Given the description of an element on the screen output the (x, y) to click on. 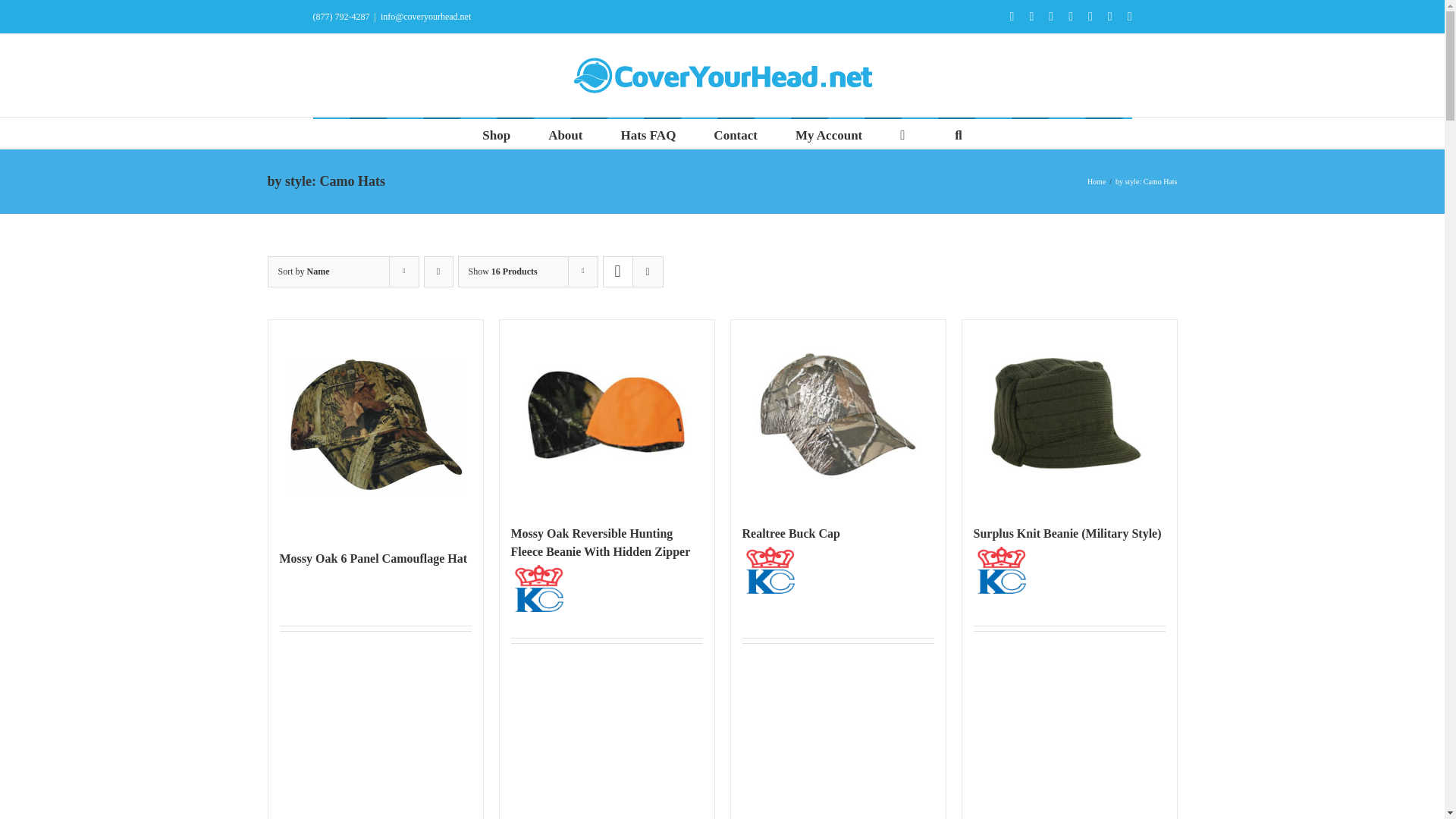
Shop (496, 132)
Hats FAQ (647, 132)
About (565, 132)
Contact (735, 132)
My Account (827, 132)
Log In (890, 259)
